Given the description of an element on the screen output the (x, y) to click on. 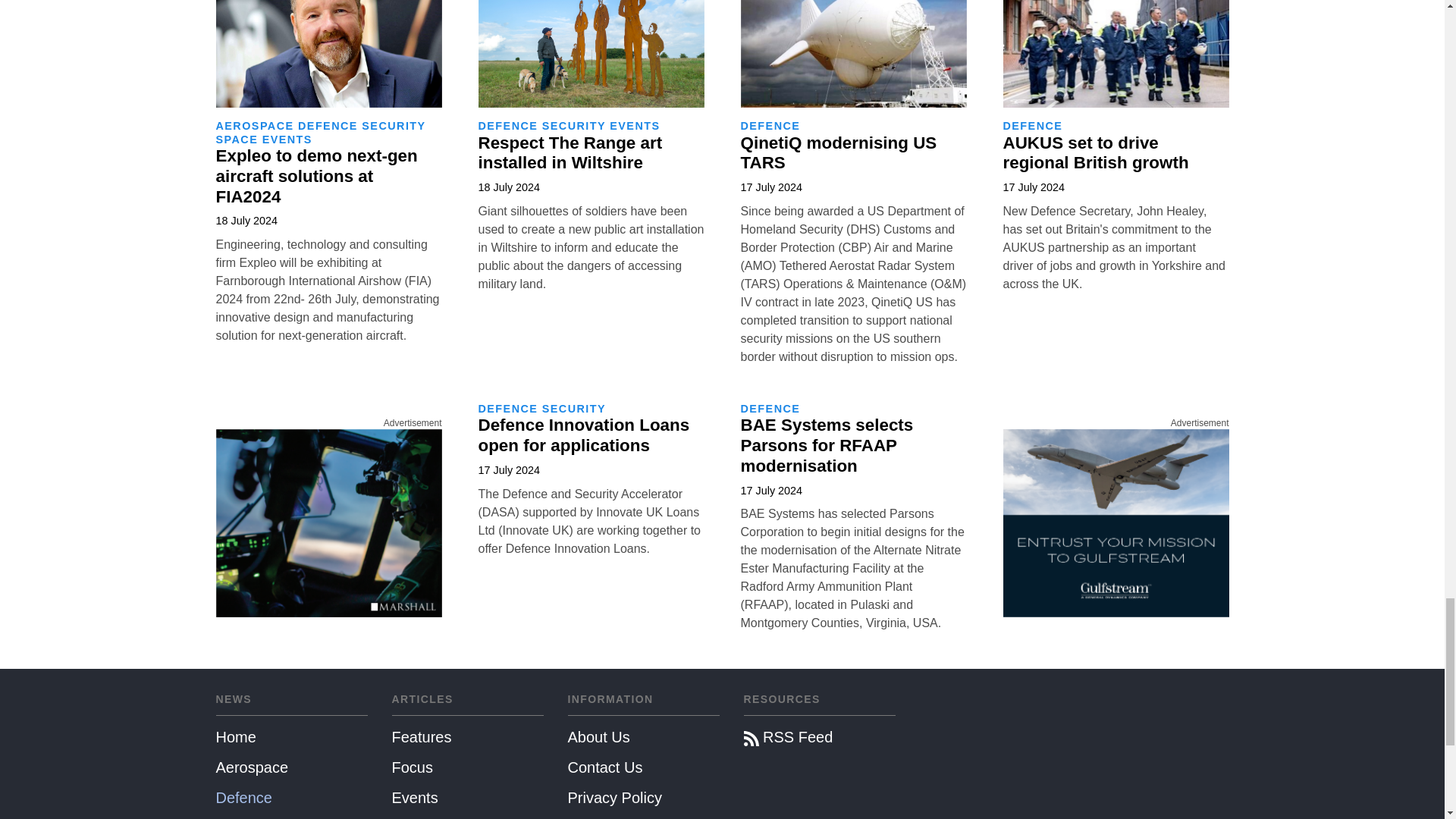
EVENTS (634, 125)
SECURITY (393, 125)
Contact Us (643, 767)
About Us (643, 737)
Marshall RT (328, 523)
Gulfstream RT July (1115, 523)
Expleo to demo next-gen aircraft solutions at FIA2024 (315, 176)
Respect The Range art installed in Wiltshire (569, 152)
Privacy Policy (643, 797)
DEFENCE (507, 125)
SECURITY (573, 125)
EVENTS (287, 139)
AEROSPACE (254, 125)
SPACE (236, 139)
DEFENCE (328, 125)
